Given the description of an element on the screen output the (x, y) to click on. 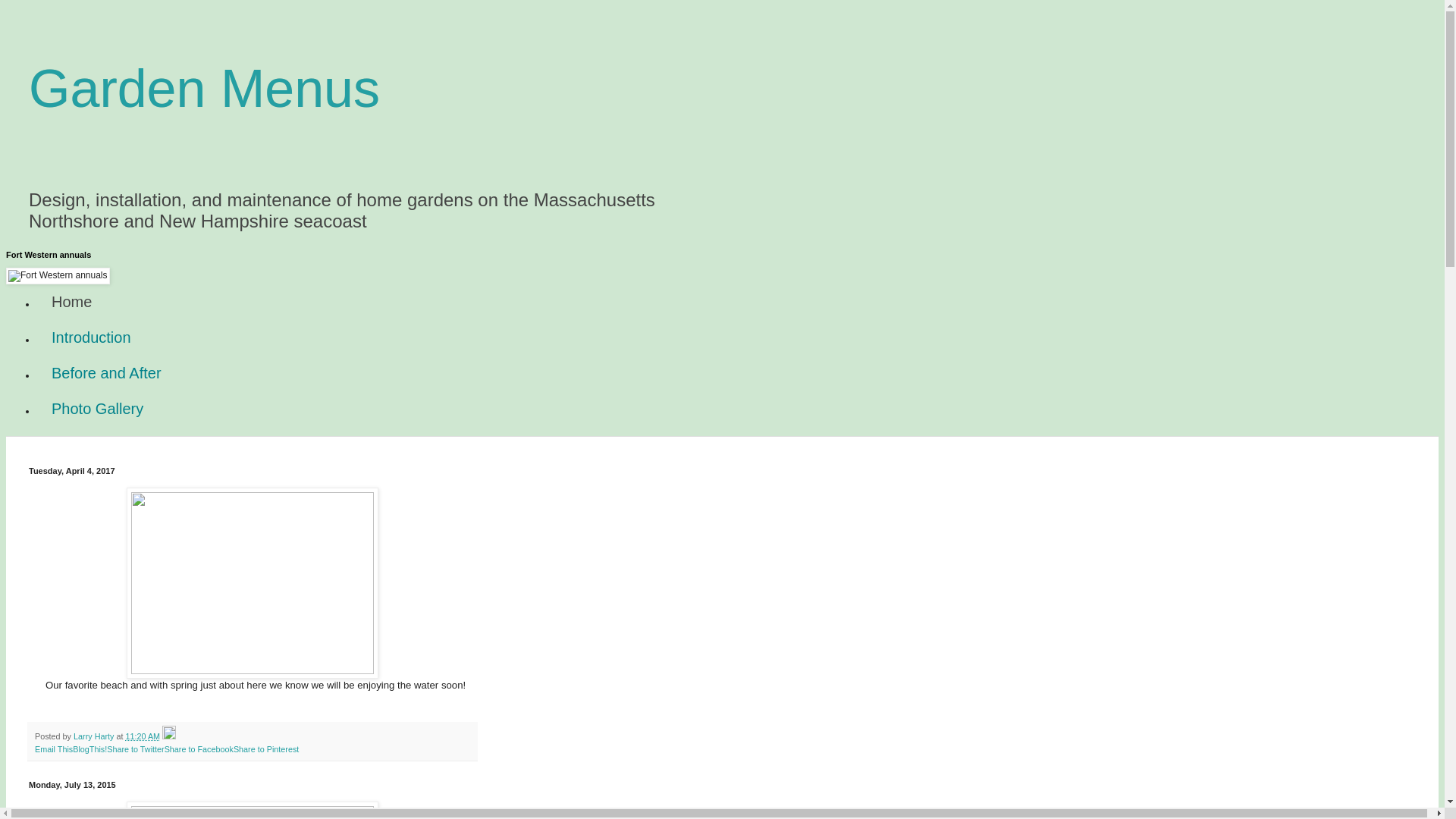
Share to Pinterest (265, 748)
Larry Harty (95, 736)
Introduction (91, 337)
BlogThis! (89, 748)
Email This (53, 748)
author profile (95, 736)
Home (71, 302)
Share to Pinterest (265, 748)
Share to Twitter (134, 748)
Edit Post (168, 736)
BlogThis! (89, 748)
Before and After (106, 373)
Photo Gallery (97, 408)
Share to Facebook (198, 748)
Email This (53, 748)
